Given the description of an element on the screen output the (x, y) to click on. 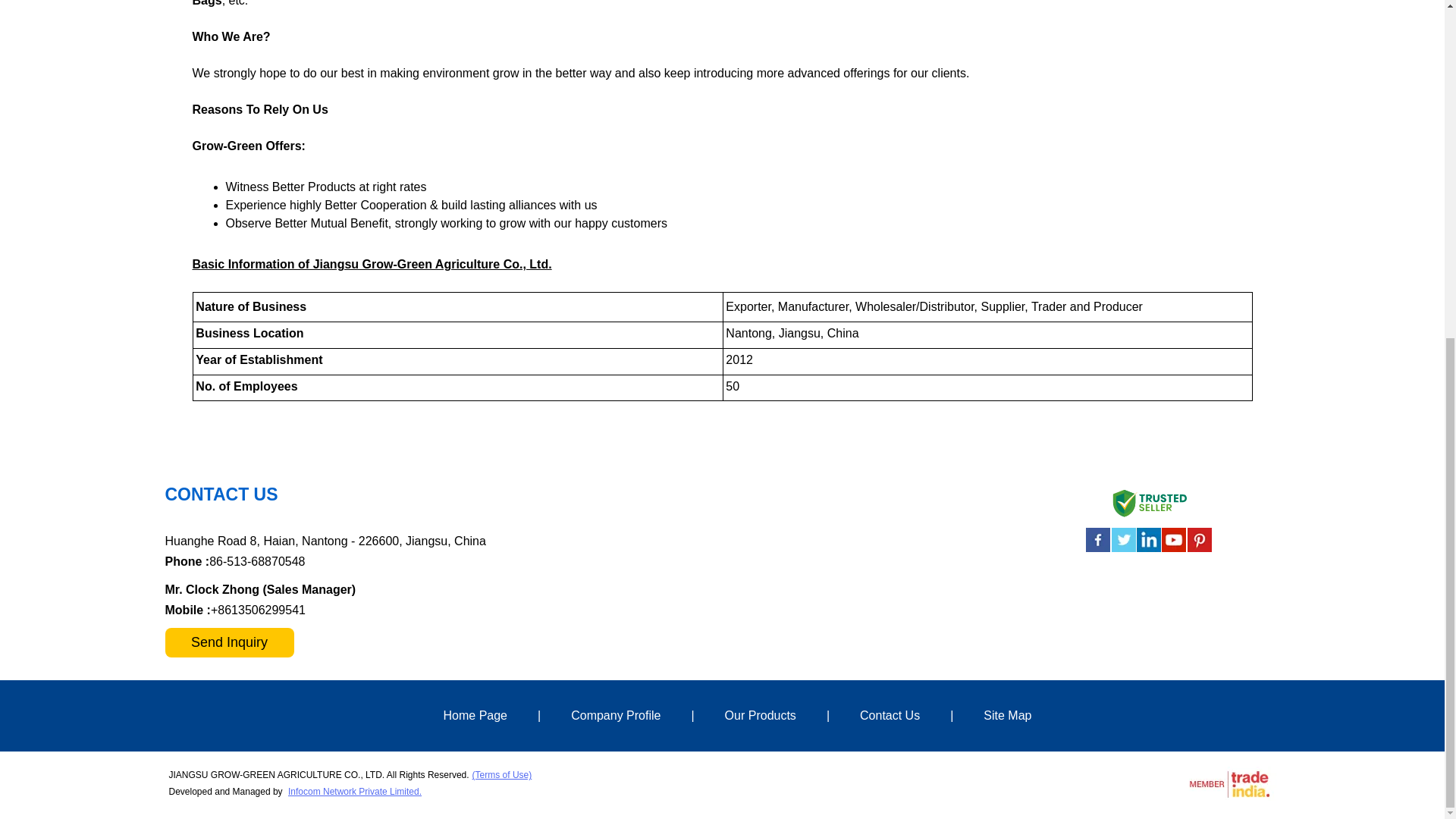
Pinterest (1199, 549)
Twitter (1123, 549)
LinkedIn (1148, 549)
Facebook (1097, 549)
You Tube (1173, 549)
